Given the description of an element on the screen output the (x, y) to click on. 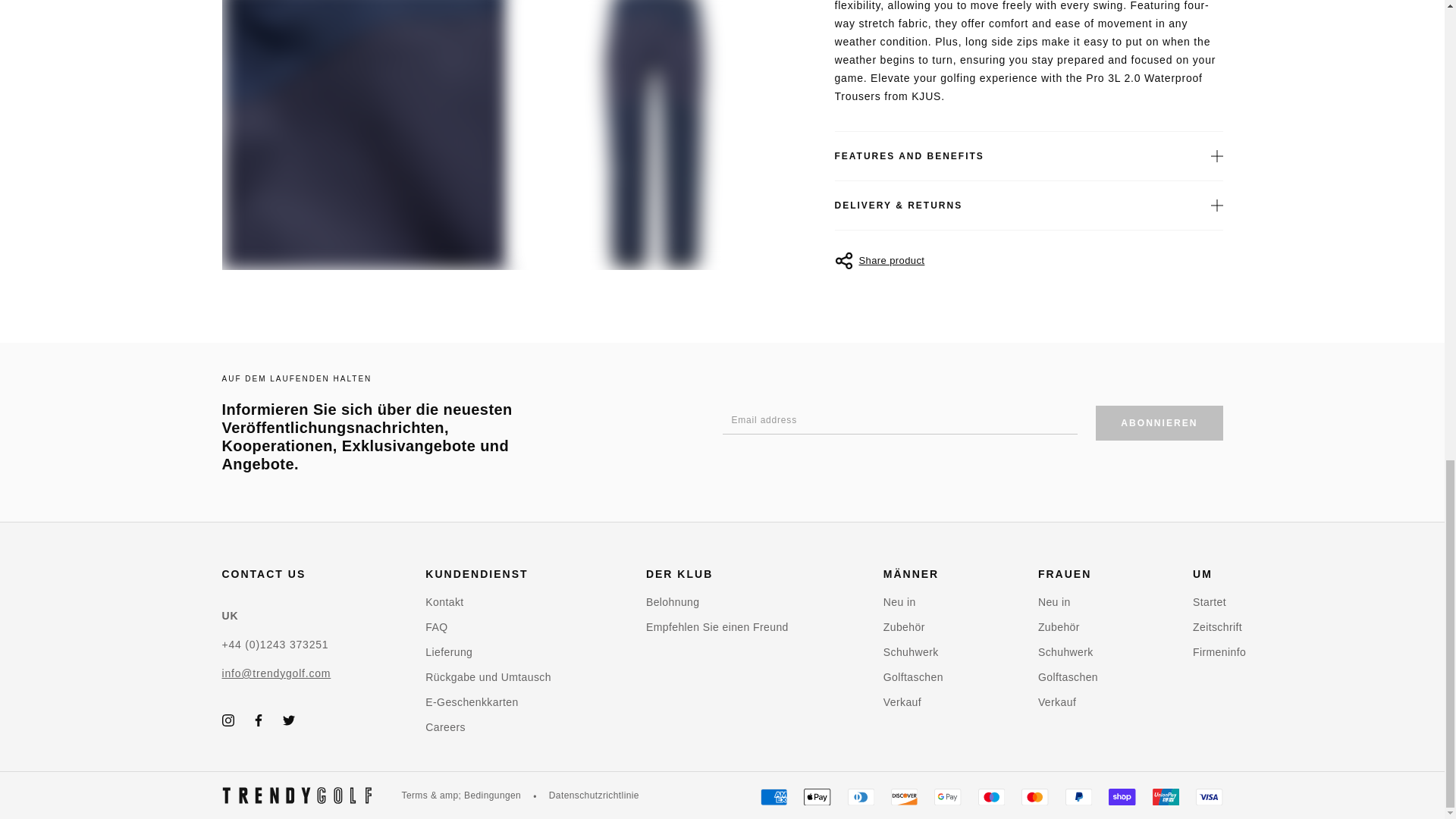
Abonnieren (1159, 422)
